Given the description of an element on the screen output the (x, y) to click on. 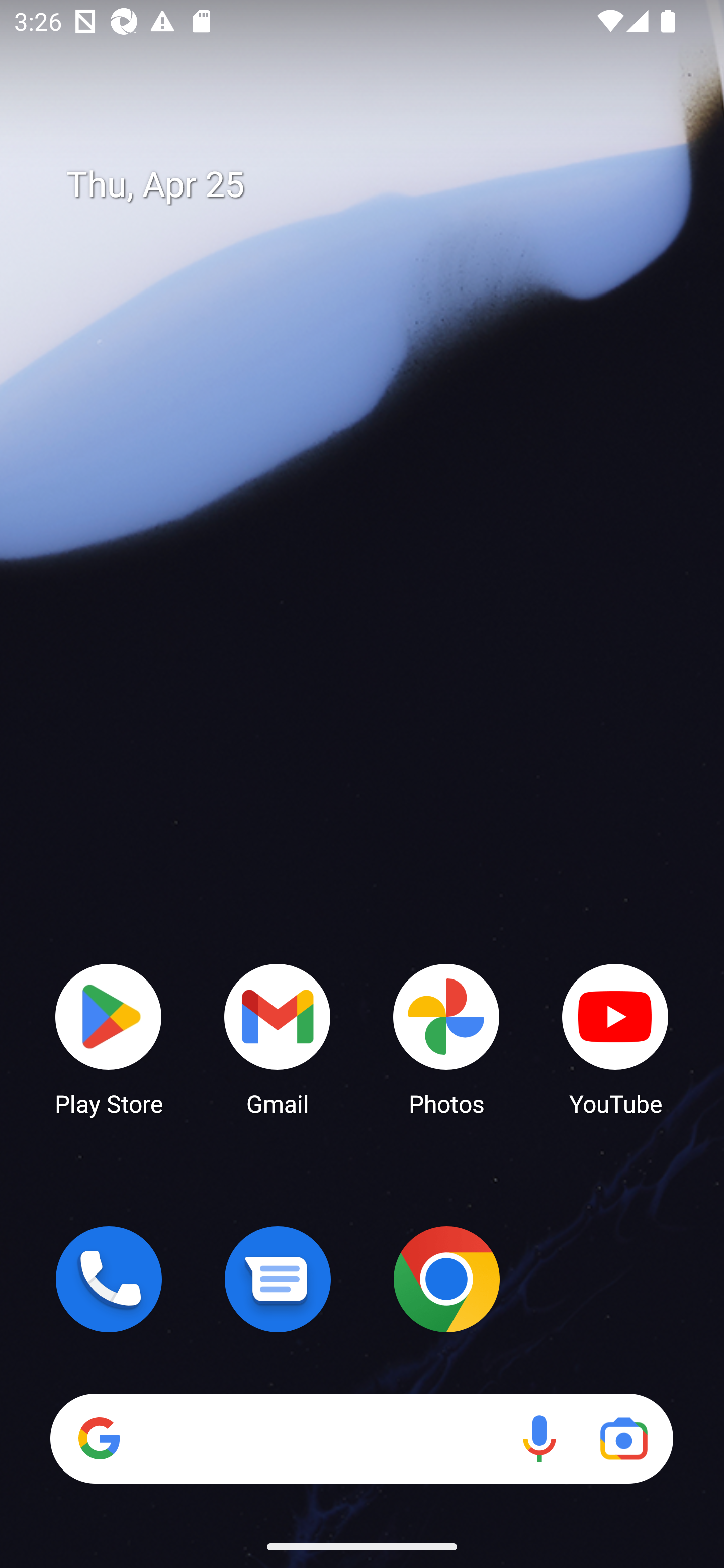
Thu, Apr 25 (375, 184)
Play Store (108, 1038)
Gmail (277, 1038)
Photos (445, 1038)
YouTube (615, 1038)
Phone (108, 1279)
Messages (277, 1279)
Chrome (446, 1279)
Search Voice search Google Lens (361, 1438)
Voice search (539, 1438)
Google Lens (623, 1438)
